Given the description of an element on the screen output the (x, y) to click on. 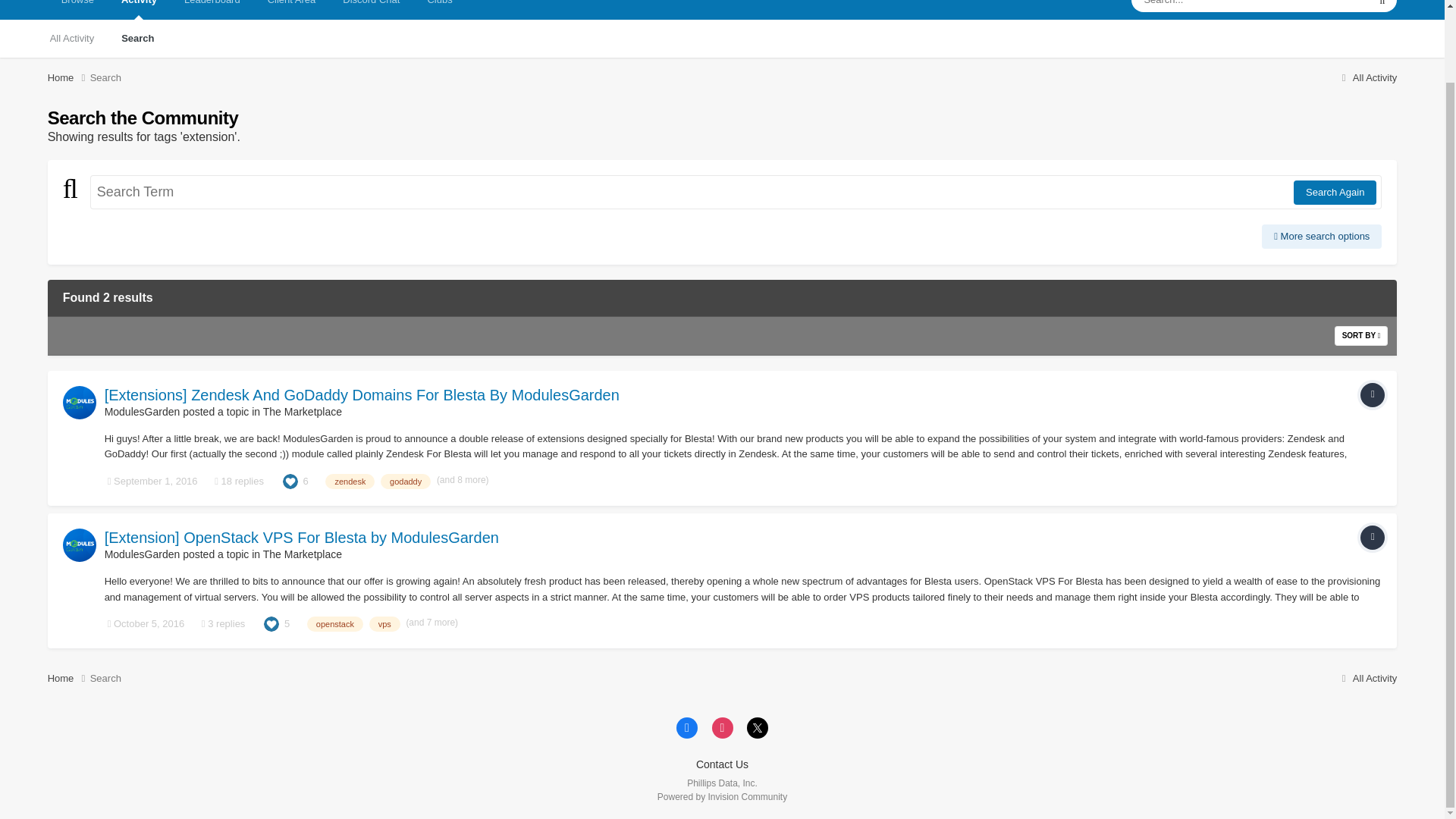
All Activity (71, 38)
Search (137, 38)
Clubs (439, 9)
Activity (138, 9)
Find other content tagged with 'godaddy' (405, 481)
All Activity (1366, 77)
See who reacted "Like" (290, 480)
Leaderboard (211, 9)
Find other content tagged with 'zendesk' (349, 481)
Search Again (1334, 192)
